Given the description of an element on the screen output the (x, y) to click on. 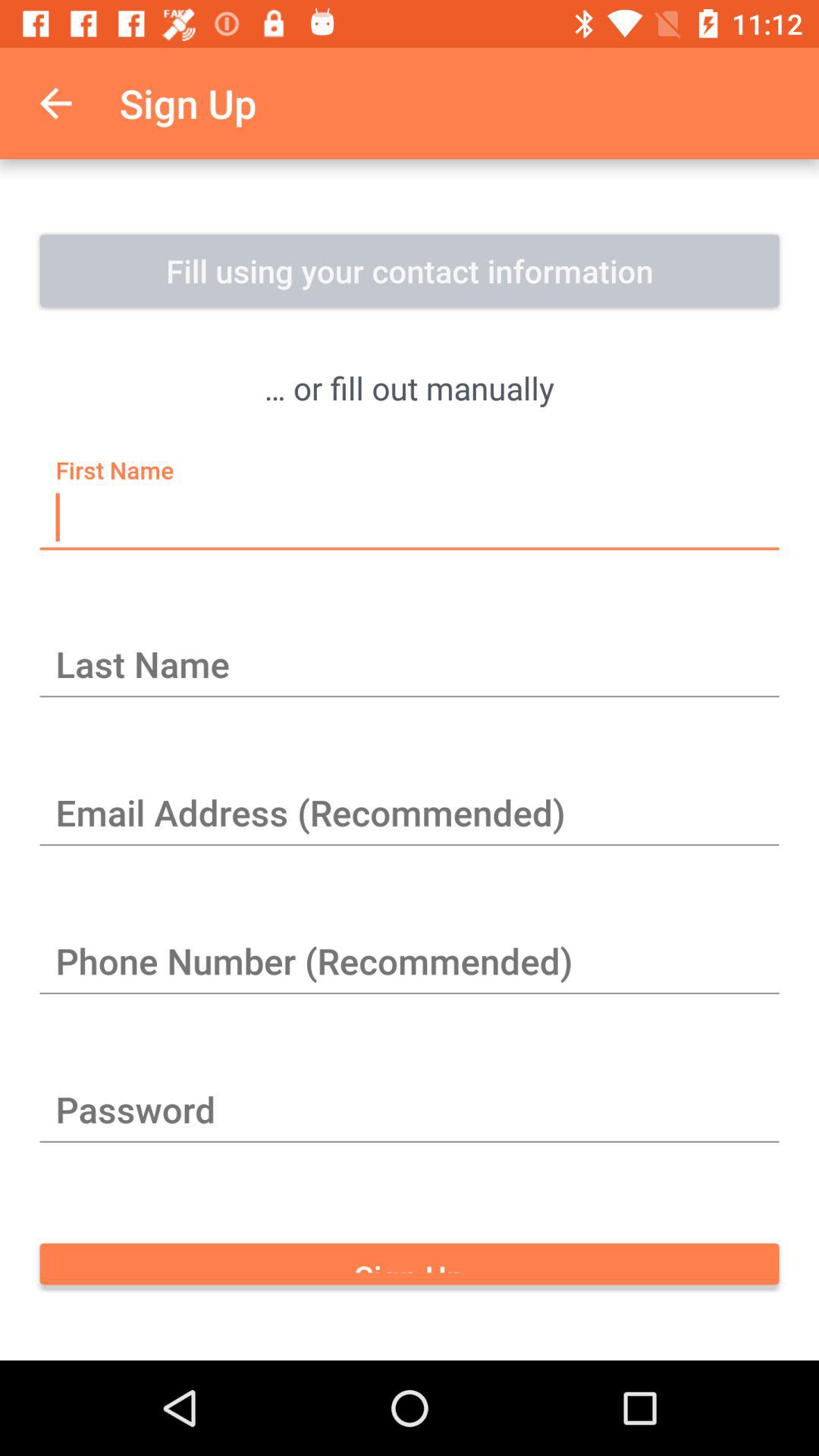
select the item above sign up item (409, 1111)
